Given the description of an element on the screen output the (x, y) to click on. 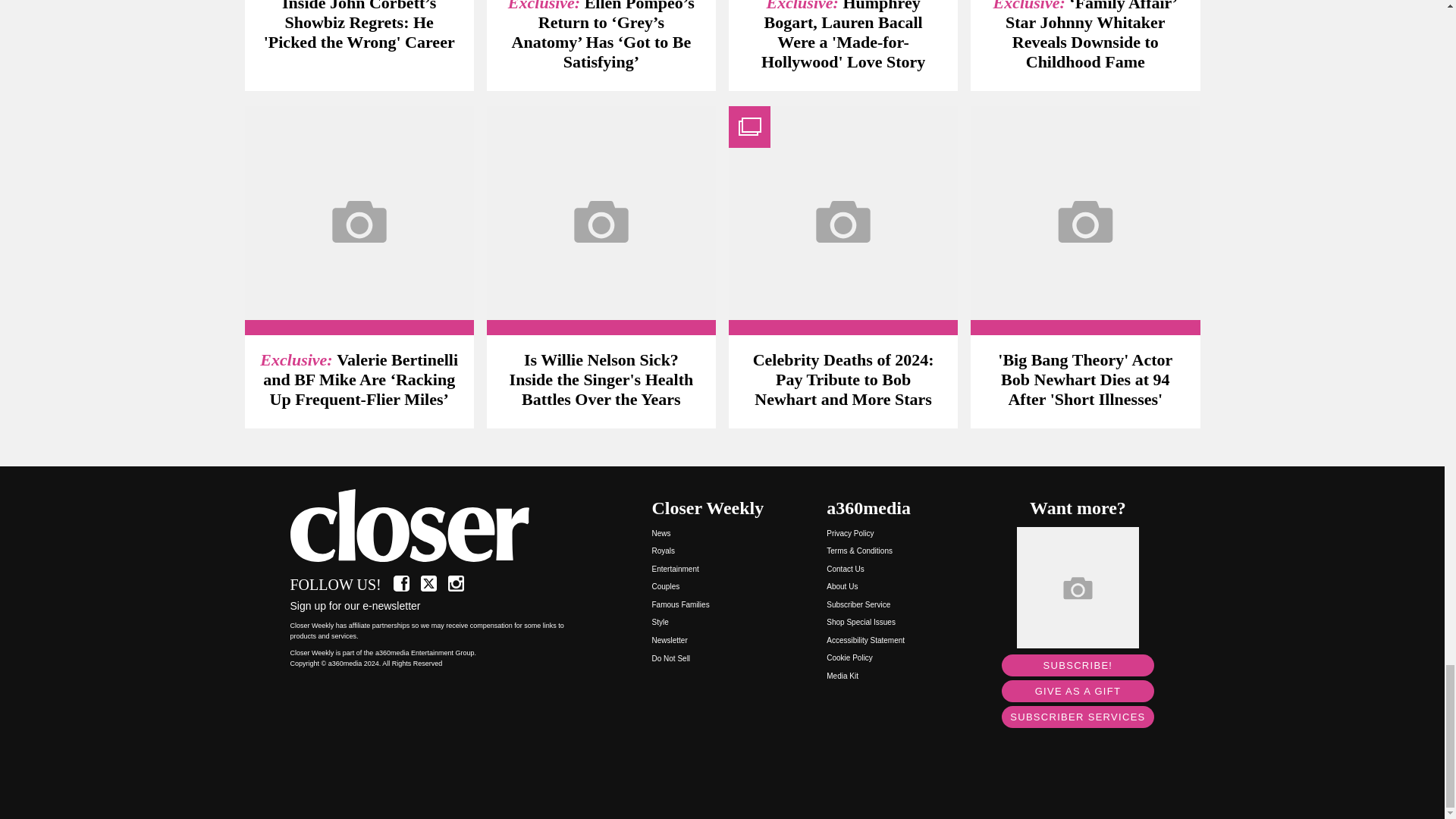
Home (434, 526)
